Given the description of an element on the screen output the (x, y) to click on. 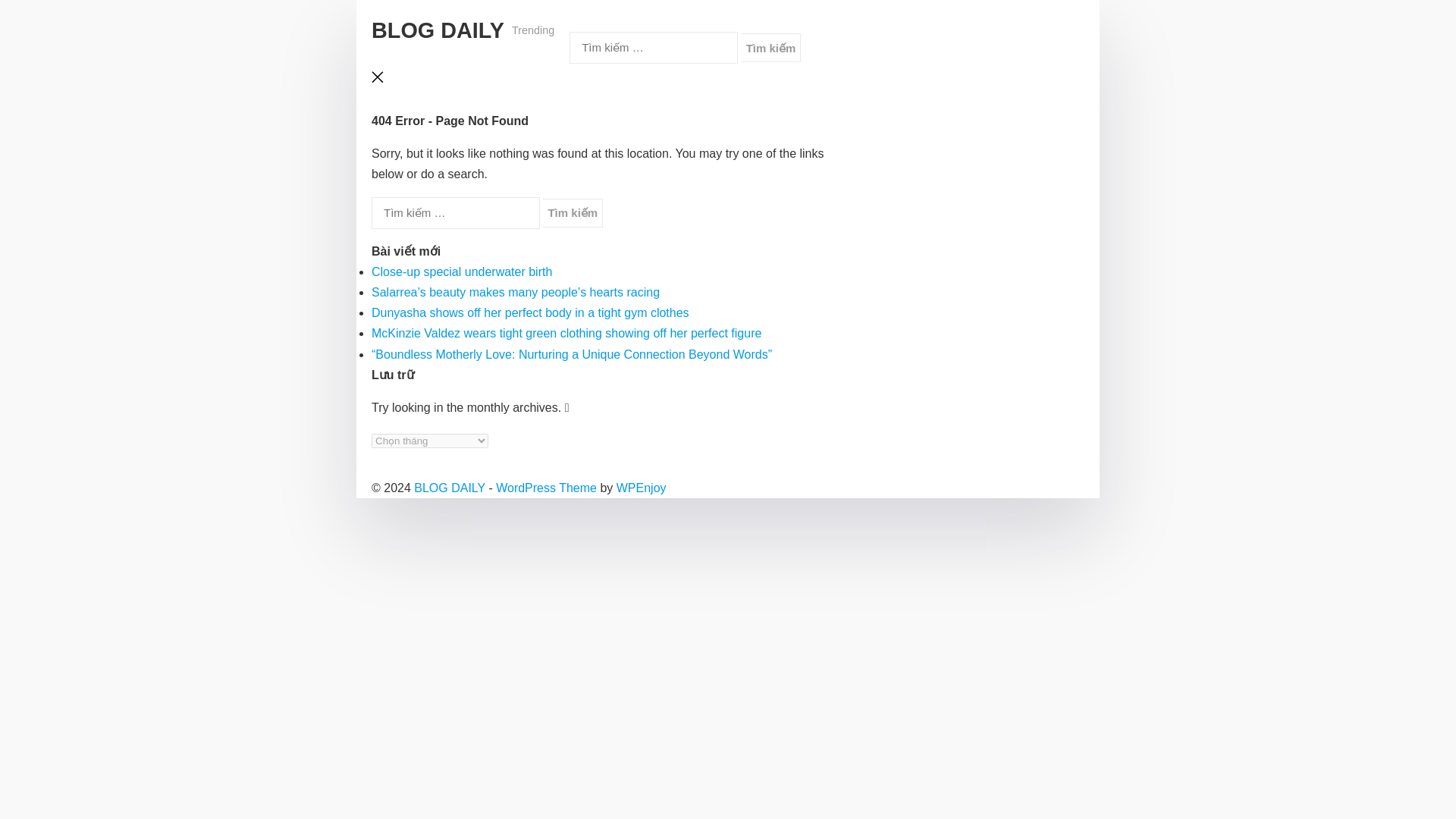
Close-up special underwater birth (461, 271)
BLOG DAILY (448, 487)
WordPress Theme (546, 487)
WPEnjoy (640, 487)
BLOG DAILY (437, 30)
Dunyasha shows off her perfect body in a tight gym clothes (529, 312)
